Given the description of an element on the screen output the (x, y) to click on. 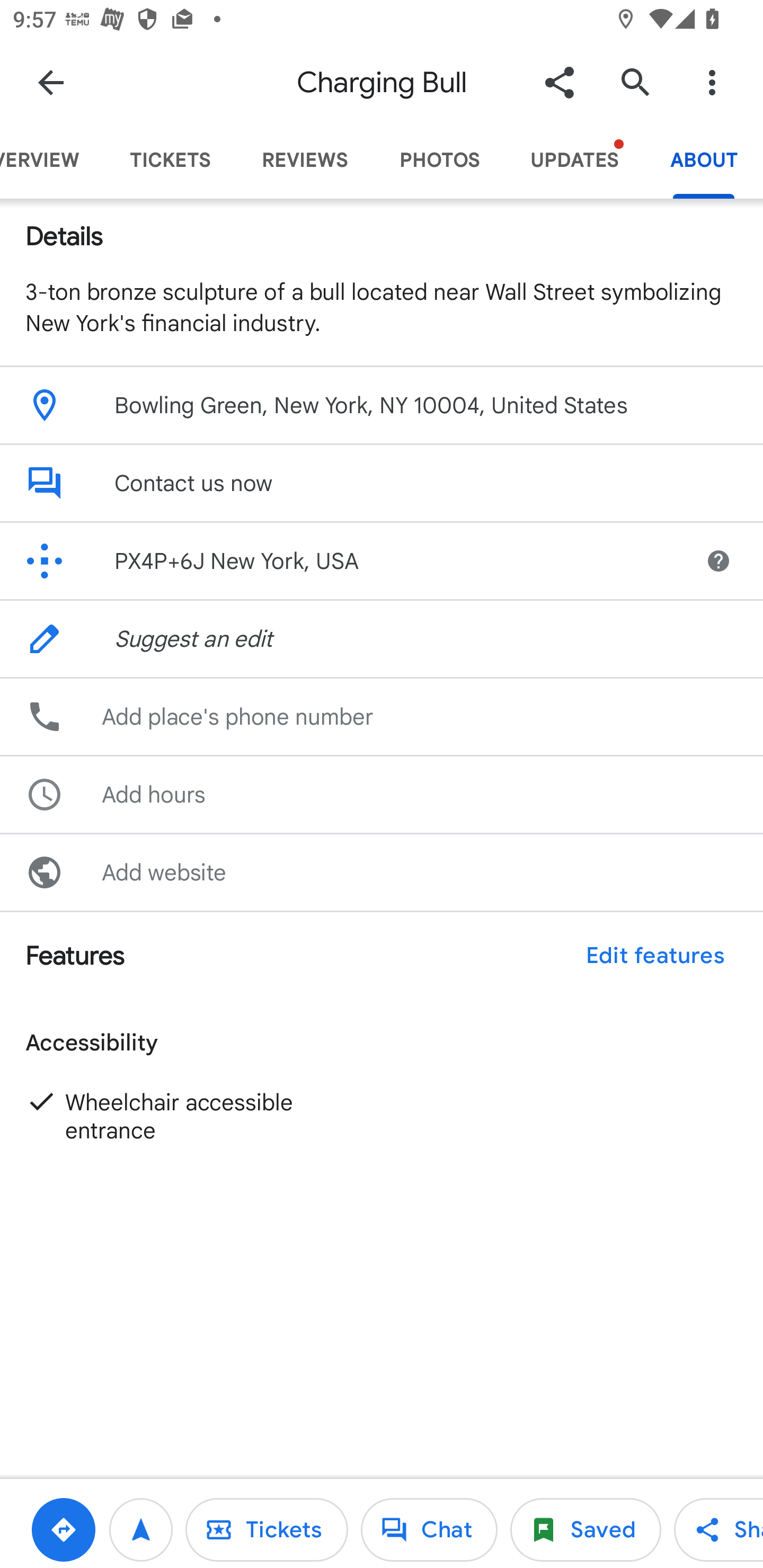
Back to Search (50, 81)
Share (559, 81)
Search (635, 81)
More options for Charging Bull (711, 81)
OVERVIEW Overview (52, 160)
TICKETS Tickets (170, 160)
REVIEWS Reviews (304, 160)
PHOTOS Photos (439, 160)
UPDATES Updates New updates in Updates (574, 160)
Contact us now,  Contact us now (381, 482)
PX4P+6J New York, USA (340, 560)
Suggest an edit (381, 638)
Add place's phone number (381, 716)
Add hours (381, 793)
Add website (381, 872)
Edit features (654, 955)
Directions to Charging Bull, Bowling Green (63, 1529)
Start (141, 1529)
Tickets (266, 1529)
Chat (428, 1529)
Share Charging Bull Share Share Charging Bull (718, 1529)
